Given the description of an element on the screen output the (x, y) to click on. 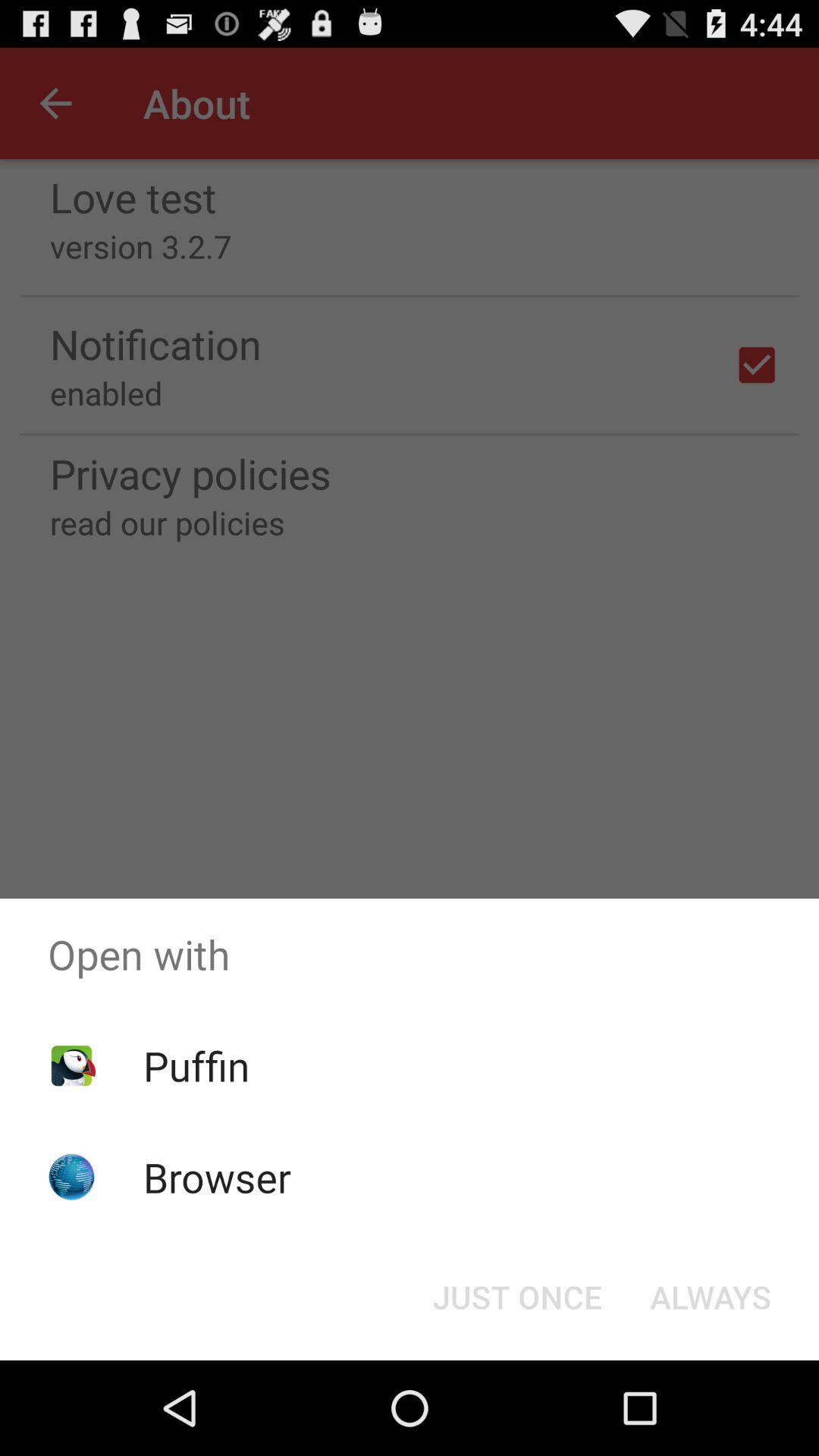
click icon below open with item (196, 1065)
